Given the description of an element on the screen output the (x, y) to click on. 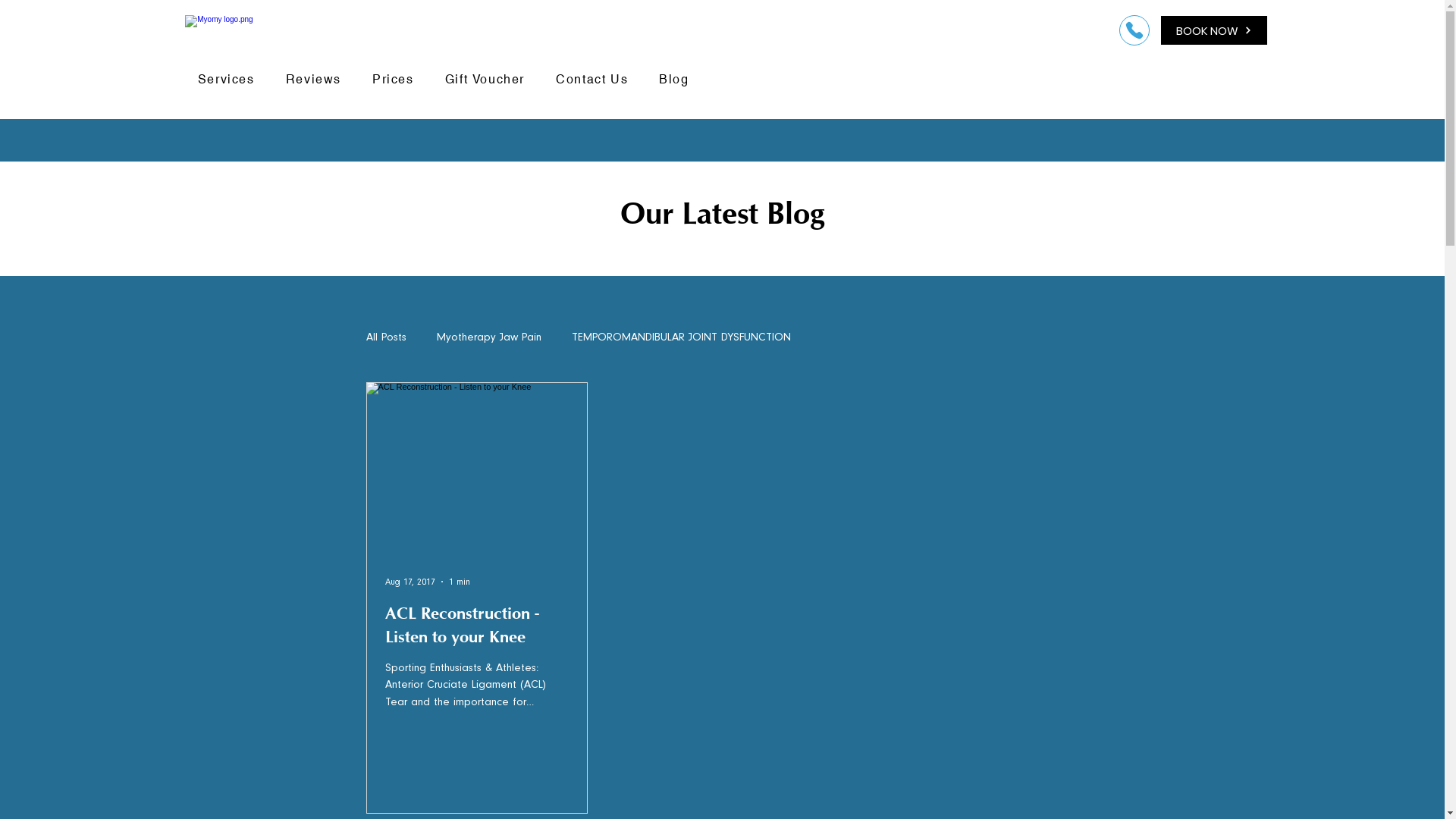
Prices Element type: text (393, 79)
Reviews Element type: text (313, 79)
TEMPOROMANDIBULAR JOINT DYSFUNCTION Element type: text (680, 336)
Blog Element type: text (674, 79)
BOOK NOW Element type: text (1213, 30)
Myotherapy Jaw Pain Element type: text (488, 336)
Contact Us Element type: text (591, 79)
All Posts Element type: text (385, 336)
ACL Reconstruction - Listen to your Knee Element type: text (476, 627)
Gift Voucher Element type: text (484, 79)
